Given the description of an element on the screen output the (x, y) to click on. 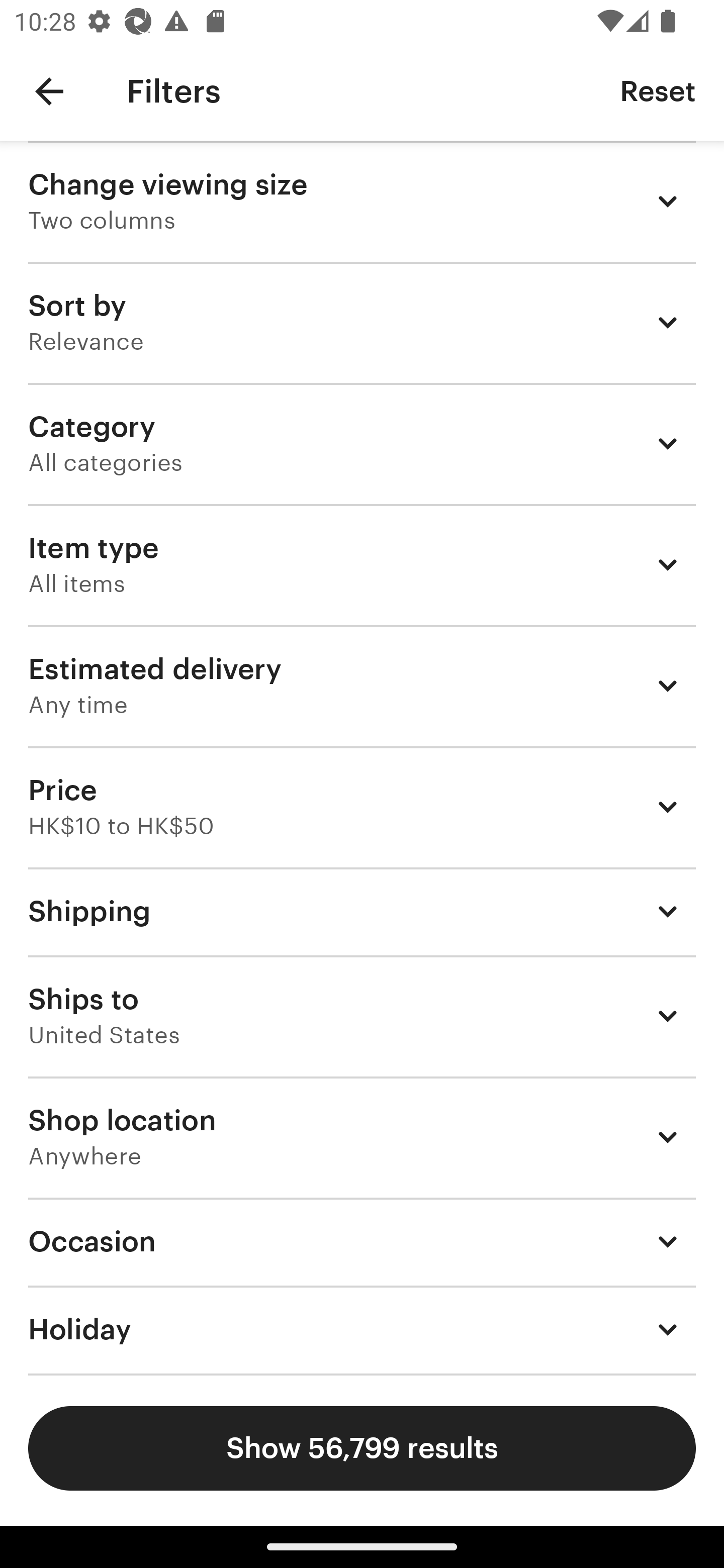
Navigate up (49, 91)
Reset (657, 90)
Change viewing size Two columns (362, 201)
Sort by Relevance (362, 321)
Category All categories (362, 442)
Item type All items (362, 564)
Estimated delivery Any time (362, 685)
Price HK$10 to HK$50 (362, 806)
Shipping (362, 910)
Ships to United States (362, 1015)
Shop location Anywhere (362, 1137)
Occasion (362, 1241)
Holiday (362, 1329)
Show 56,799 results Show results (361, 1448)
